Given the description of an element on the screen output the (x, y) to click on. 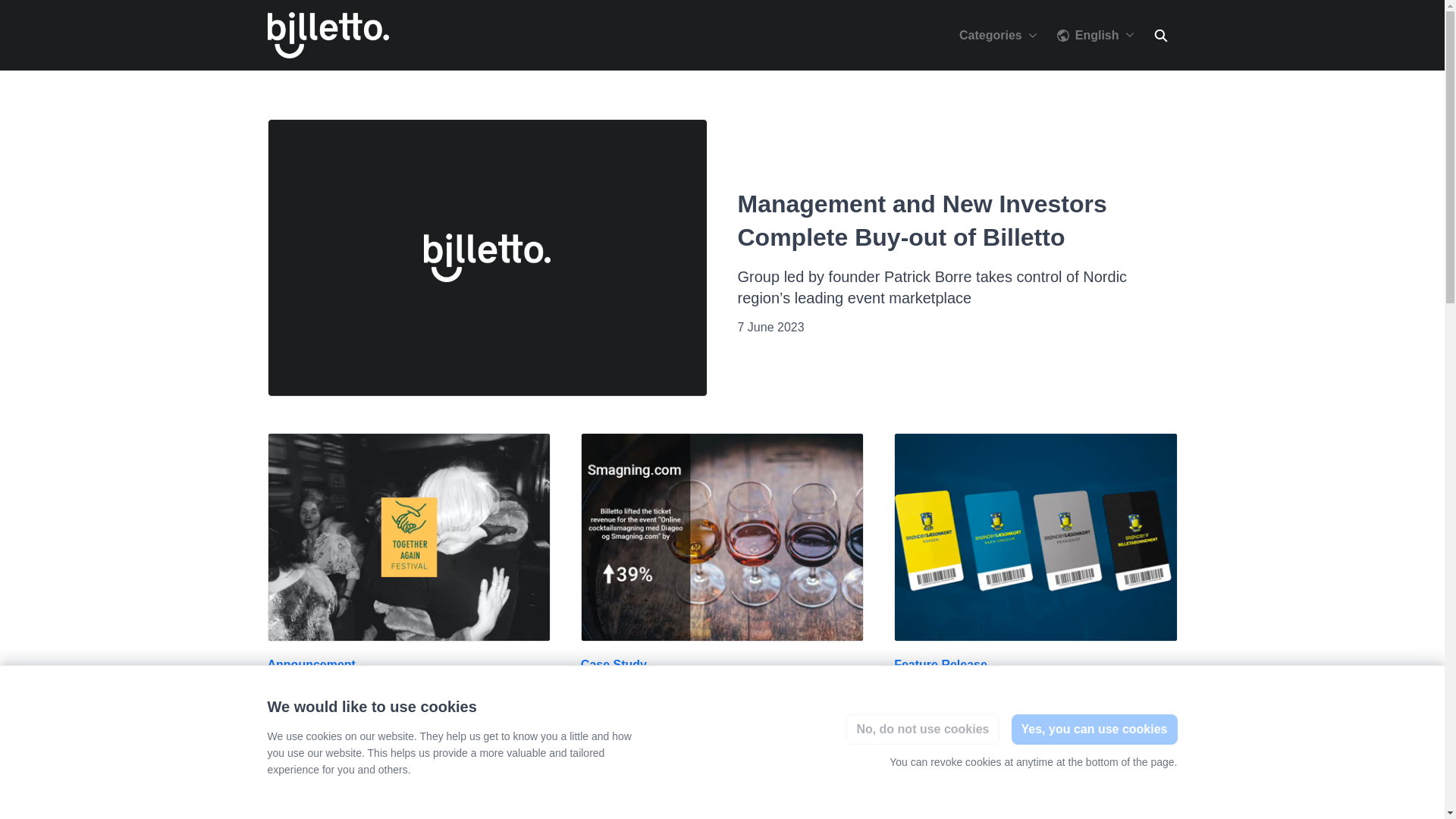
Management and New Investors Complete Buy-out of Billetto (921, 220)
English (1095, 35)
Categories (997, 35)
BILLETTO (327, 35)
Management and New Investors Complete Buy-out of Billetto (486, 256)
Feature Release (940, 664)
Case Study (613, 664)
Search (1159, 35)
Announcement (310, 664)
